Given the description of an element on the screen output the (x, y) to click on. 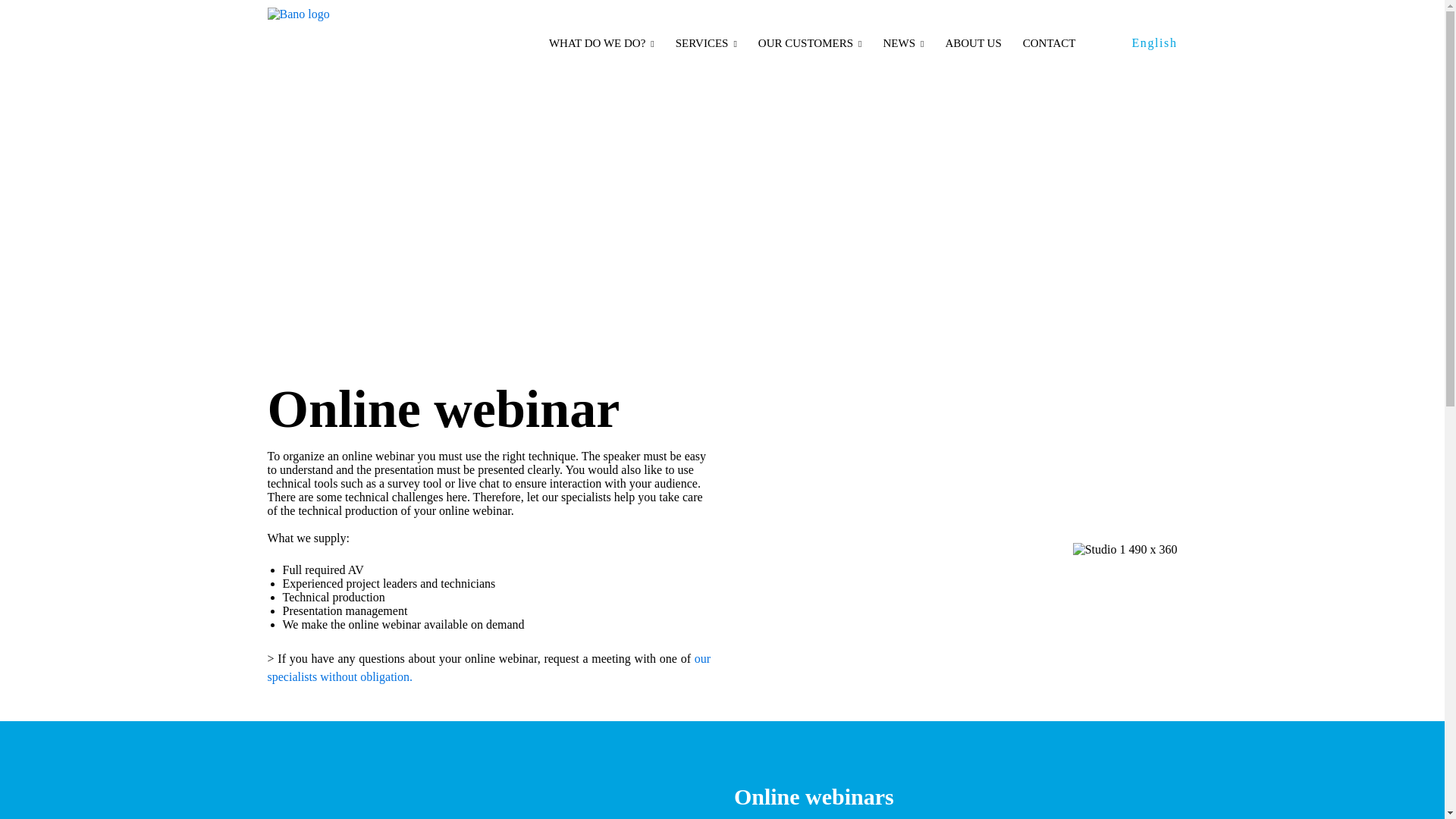
NEWS (902, 42)
OUR CUSTOMERS (809, 42)
SERVICES (705, 42)
Studio 1 490 x 360 (1125, 549)
CONTACT (1049, 42)
Bano logo (334, 42)
WHAT DO WE DO? (600, 42)
our specialists without obligation. (488, 667)
ABOUT US (972, 42)
